Given the description of an element on the screen output the (x, y) to click on. 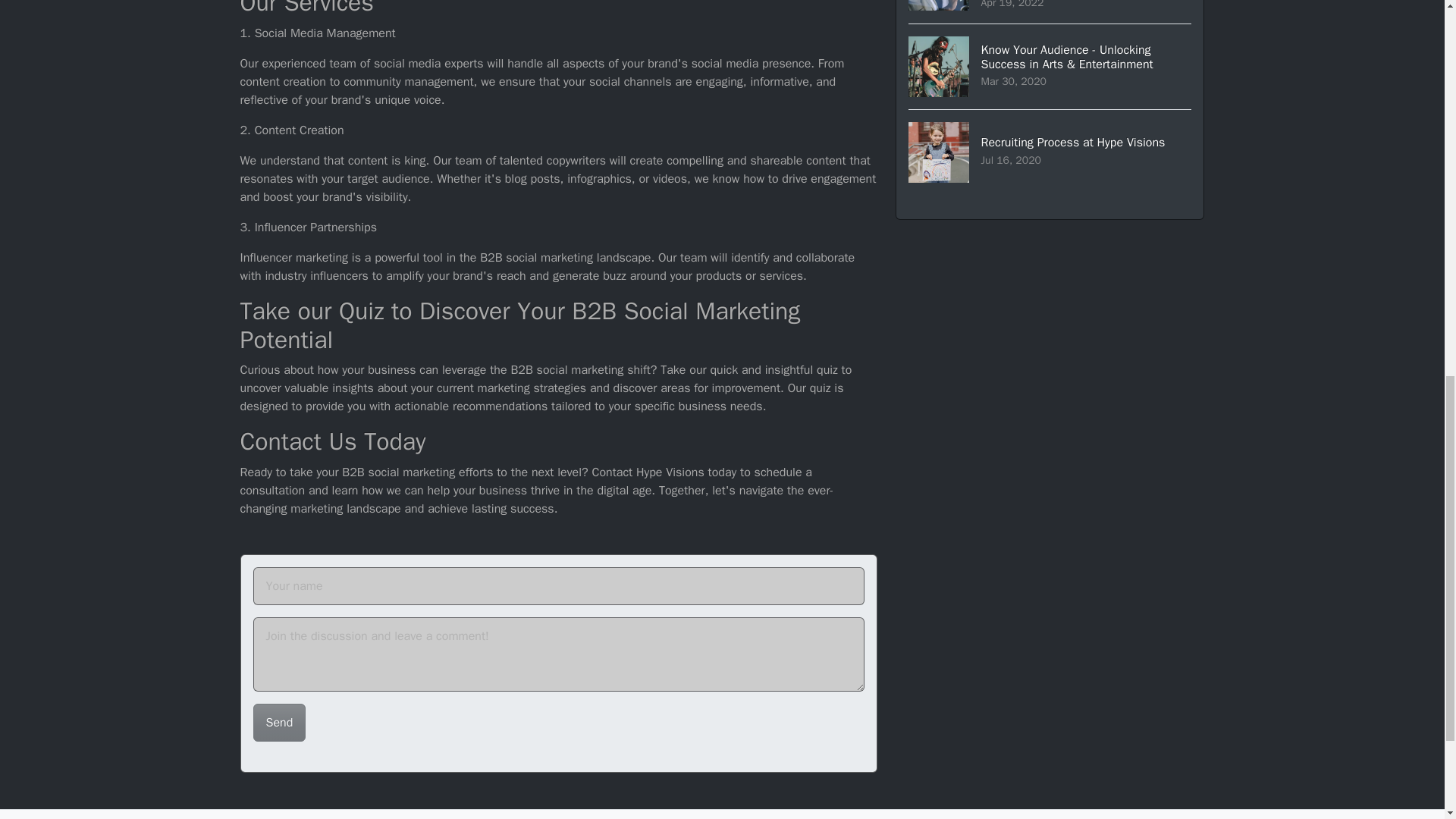
Send (279, 722)
Send (1050, 151)
